Given the description of an element on the screen output the (x, y) to click on. 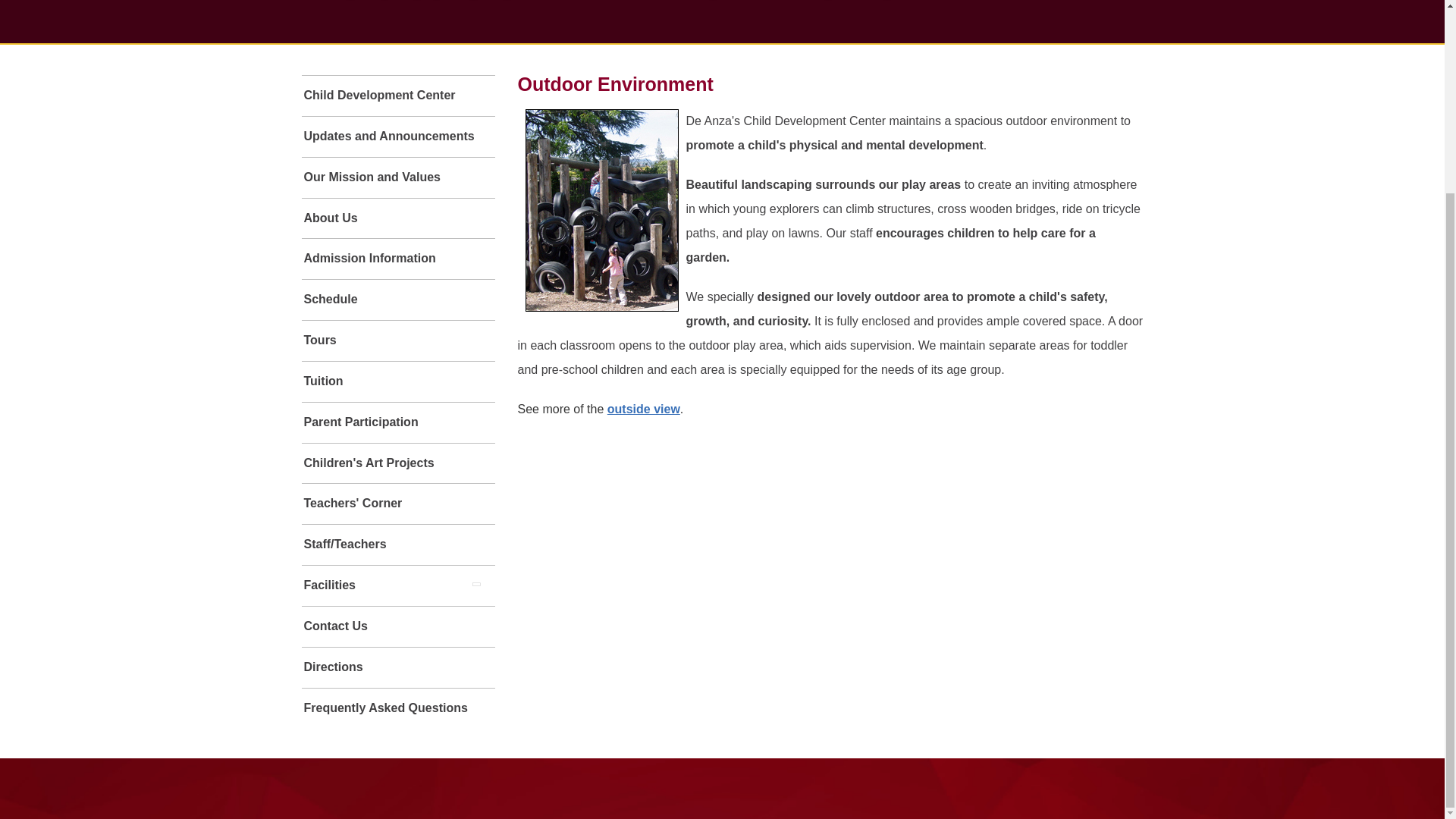
Our Mission and Values (398, 178)
About Us (398, 219)
Updates and Announcements (398, 137)
Admission Information (398, 259)
Schedule (398, 300)
Teachers' Corner (398, 504)
Parent Participation (398, 422)
Tuition (398, 381)
Child Development Center (398, 96)
Facilities (379, 585)
Tours (398, 341)
Children's Art Projects (398, 463)
